Given the description of an element on the screen output the (x, y) to click on. 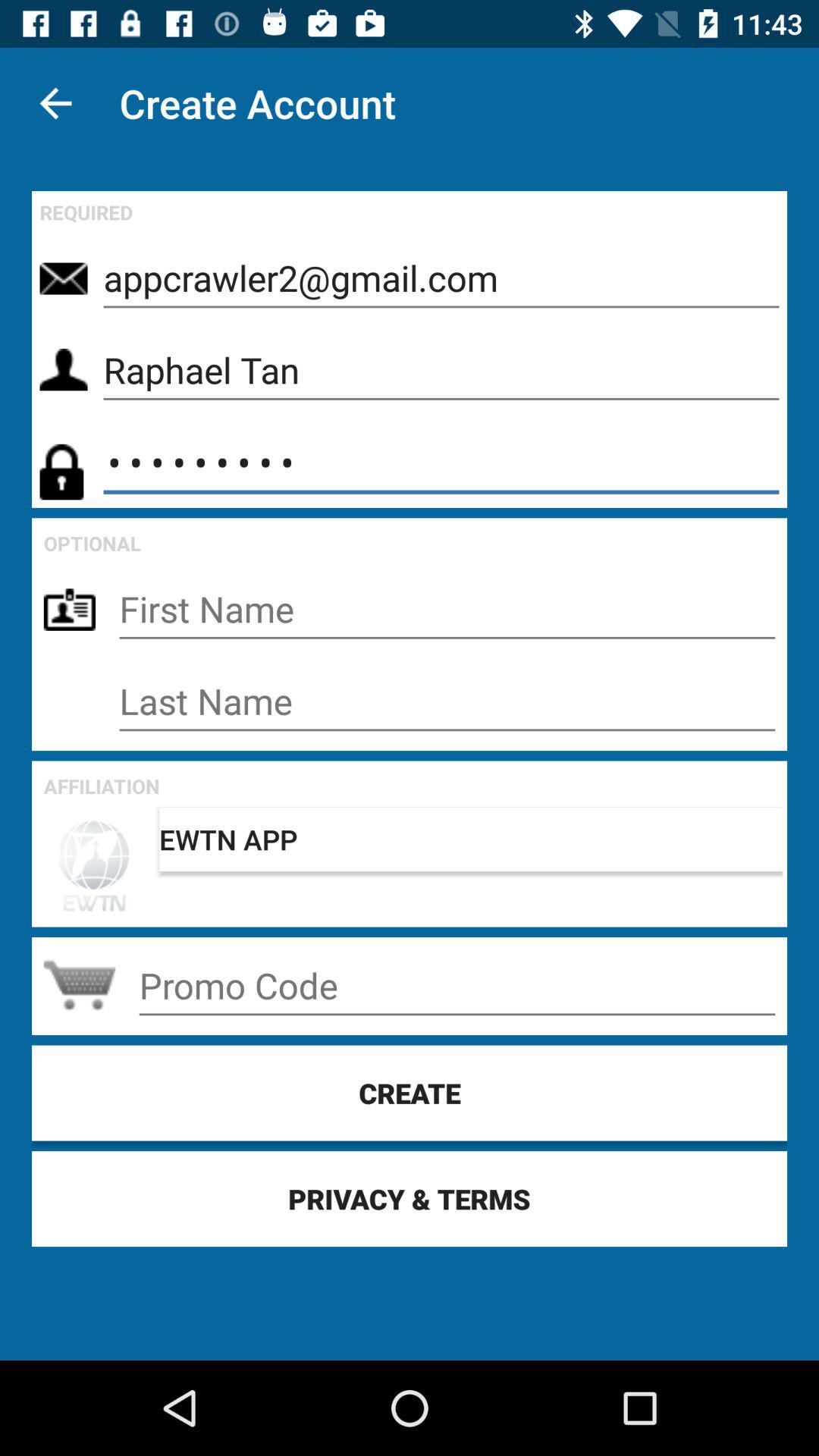
click the item above the required icon (55, 103)
